Given the description of an element on the screen output the (x, y) to click on. 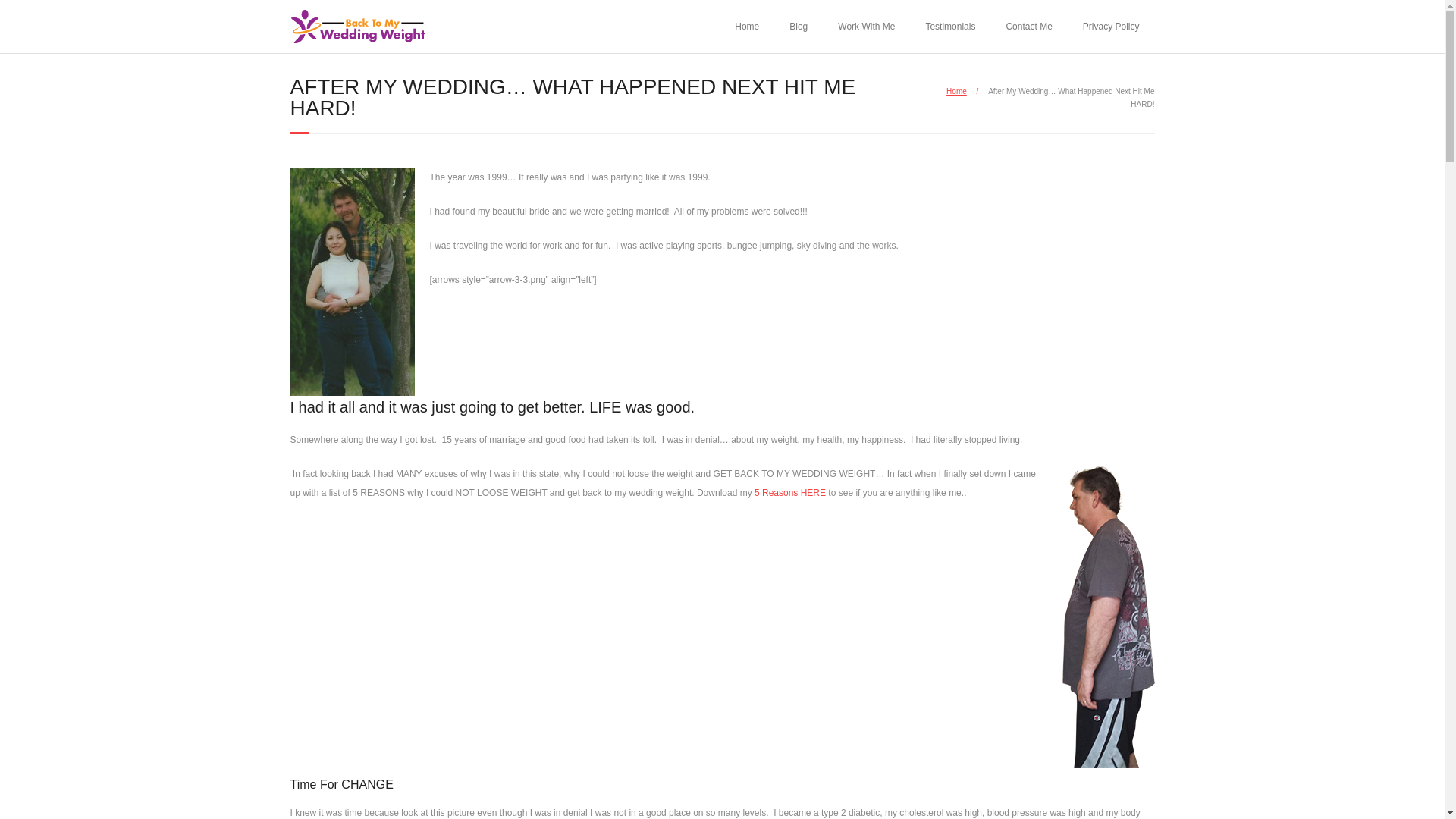
Home (746, 26)
Testimonials (950, 26)
Home (956, 90)
Privacy Policy (1110, 26)
Blog (798, 26)
5 Reasons HERE (789, 492)
Work With Me (866, 26)
Contact Me (1028, 26)
